Given the description of an element on the screen output the (x, y) to click on. 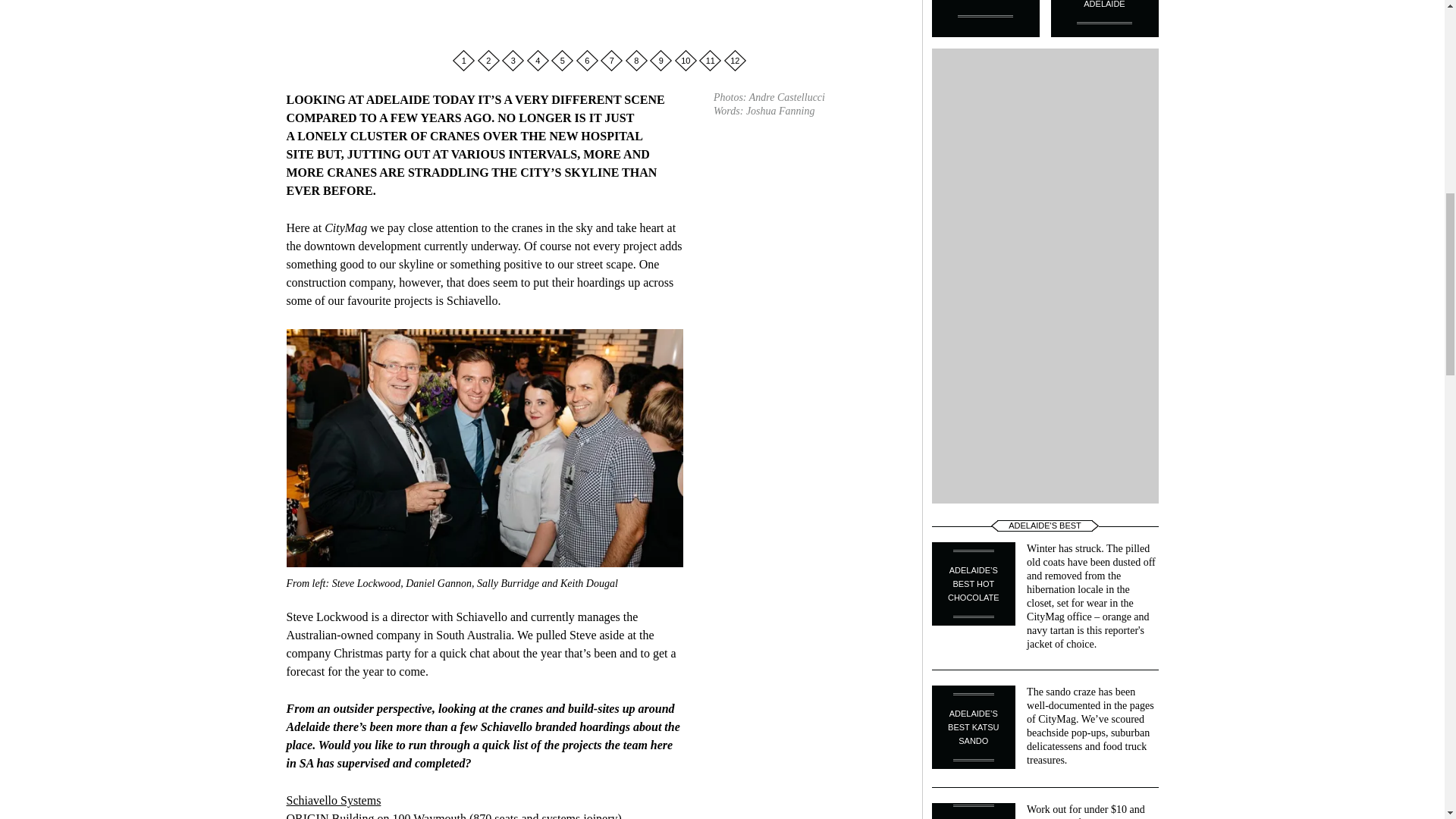
UNSOUND ADELAIDE LANDS THIS WEEKEND (985, 18)
